Given the description of an element on the screen output the (x, y) to click on. 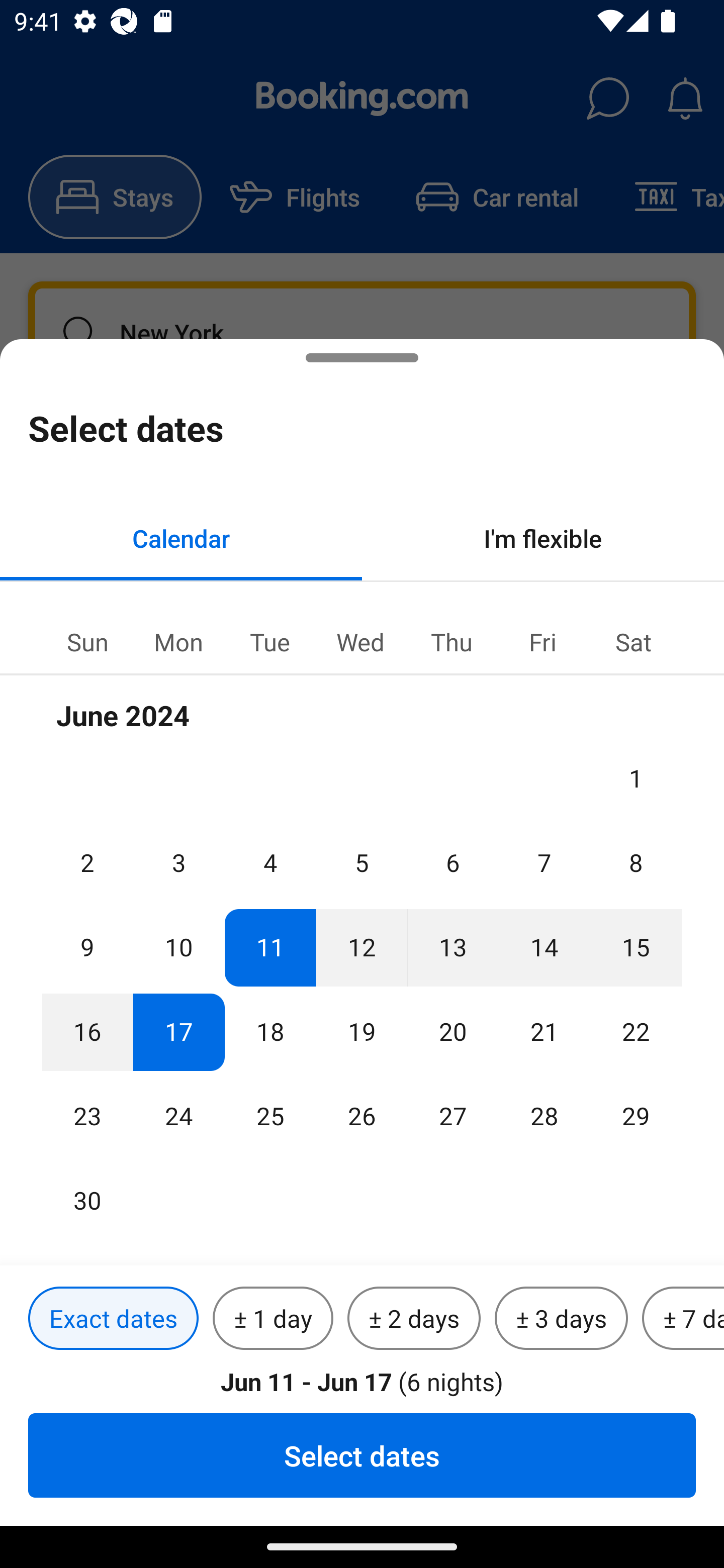
I'm flexible (543, 537)
Exact dates (113, 1318)
± 1 day (272, 1318)
± 2 days (413, 1318)
± 3 days (560, 1318)
± 7 days (683, 1318)
Select dates (361, 1454)
